Given the description of an element on the screen output the (x, y) to click on. 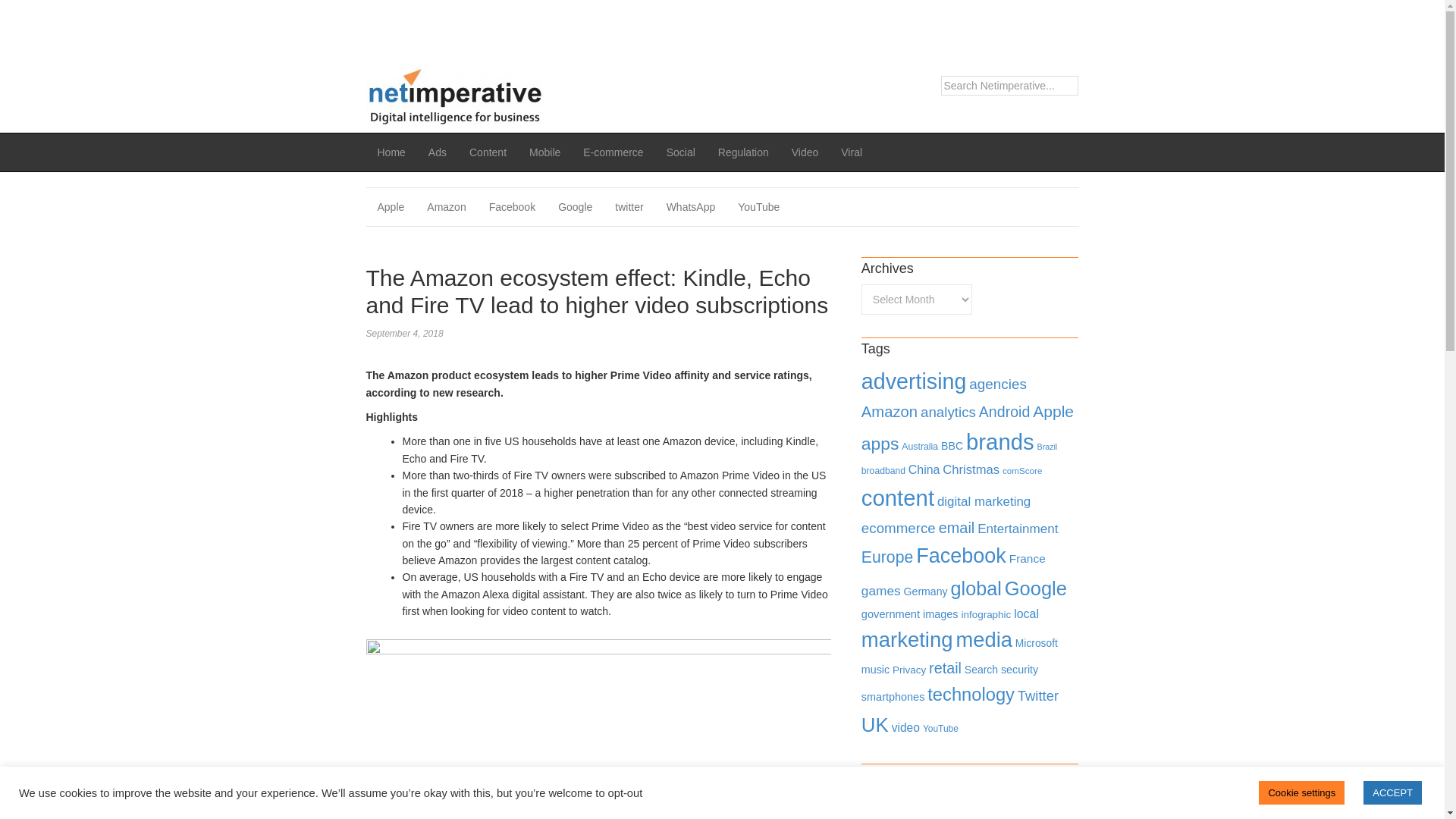
E-commerce (612, 152)
Amazon (889, 411)
twitter (628, 207)
Viral (851, 152)
twitter (628, 207)
Apple (1053, 411)
Ads (437, 152)
Apple (389, 207)
